Given the description of an element on the screen output the (x, y) to click on. 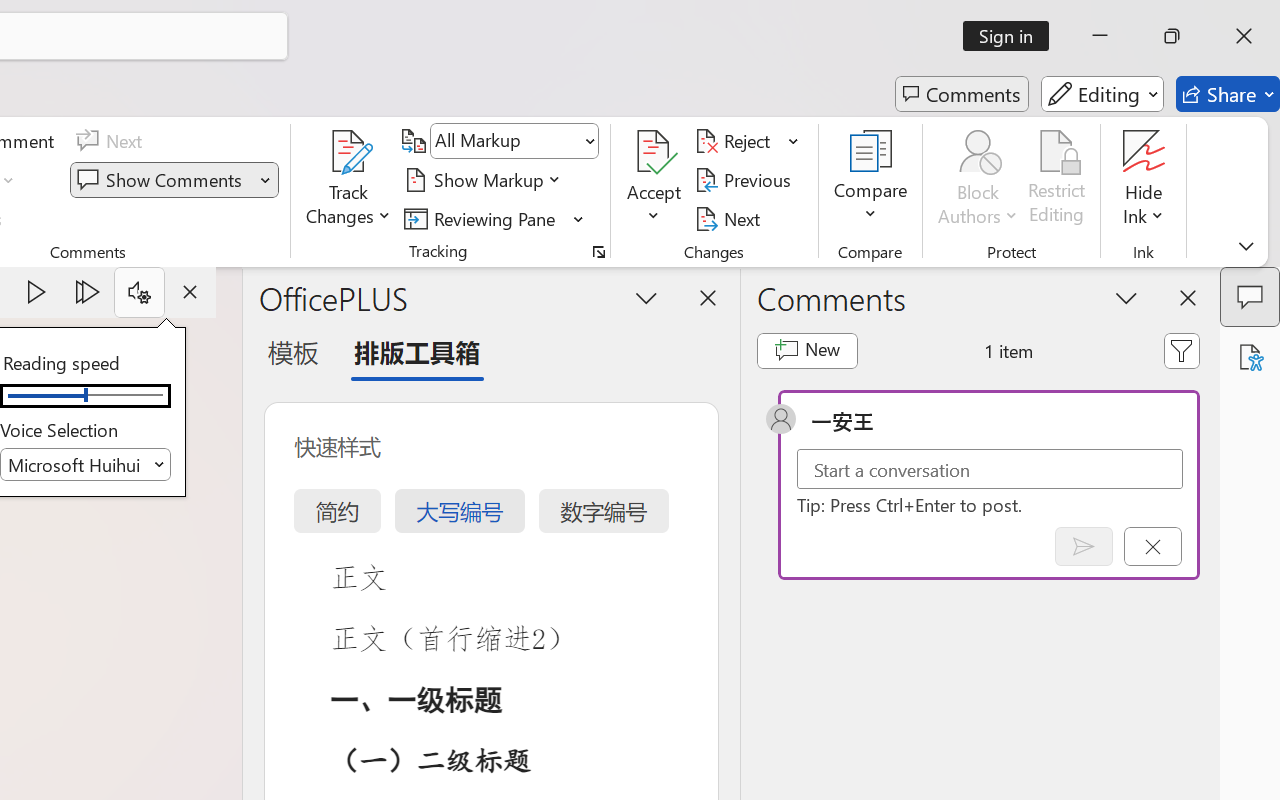
Page right (129, 395)
Track Changes (349, 179)
Voice Selection (85, 464)
Reject and Move to Next (735, 141)
Block Authors (977, 179)
Next (730, 218)
Stop (190, 292)
Previous (745, 179)
